Given the description of an element on the screen output the (x, y) to click on. 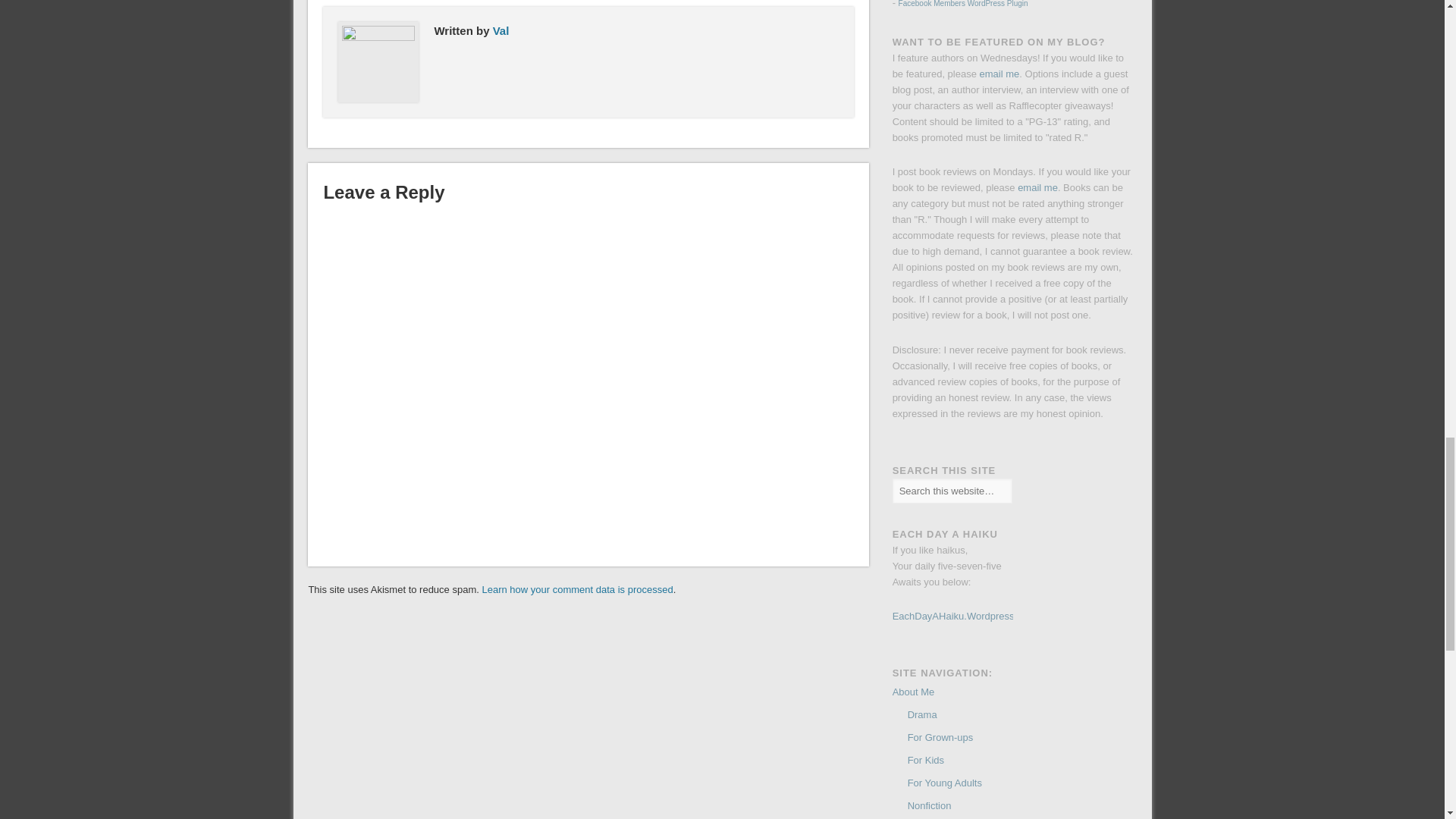
Facebook Members WordPress Plugin (962, 4)
Learn how your comment data is processed (576, 589)
Val (501, 30)
Posts by Val (501, 30)
